Given the description of an element on the screen output the (x, y) to click on. 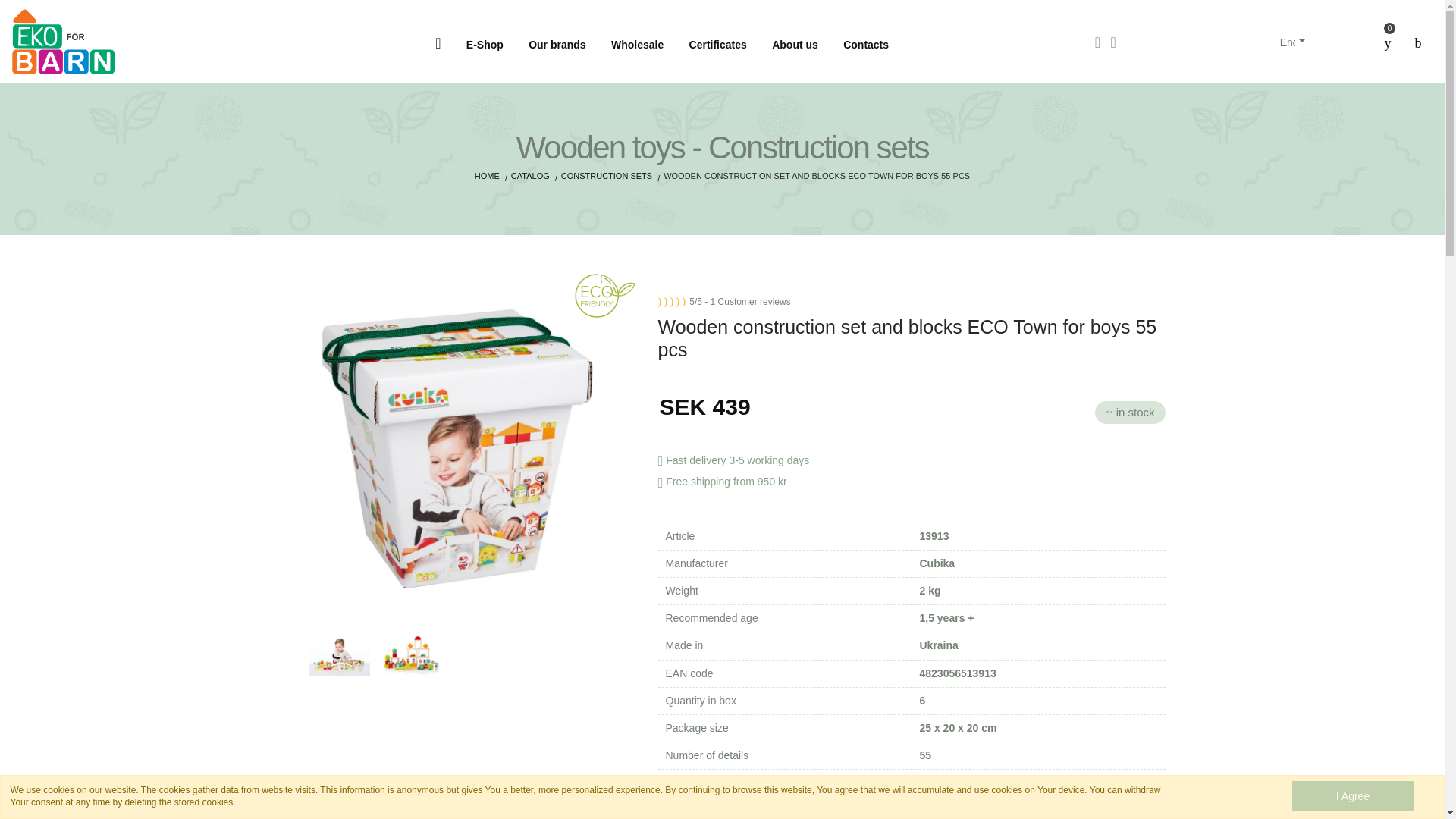
About us (794, 44)
CATALOG (530, 175)
English (1287, 41)
Wholesale (637, 44)
E-Shop (484, 44)
Certificates (717, 44)
HOME (486, 175)
Our brands (556, 44)
Add to Cart (824, 809)
CONSTRUCTION SETS (606, 175)
1 (695, 815)
Contacts (865, 44)
